Given the description of an element on the screen output the (x, y) to click on. 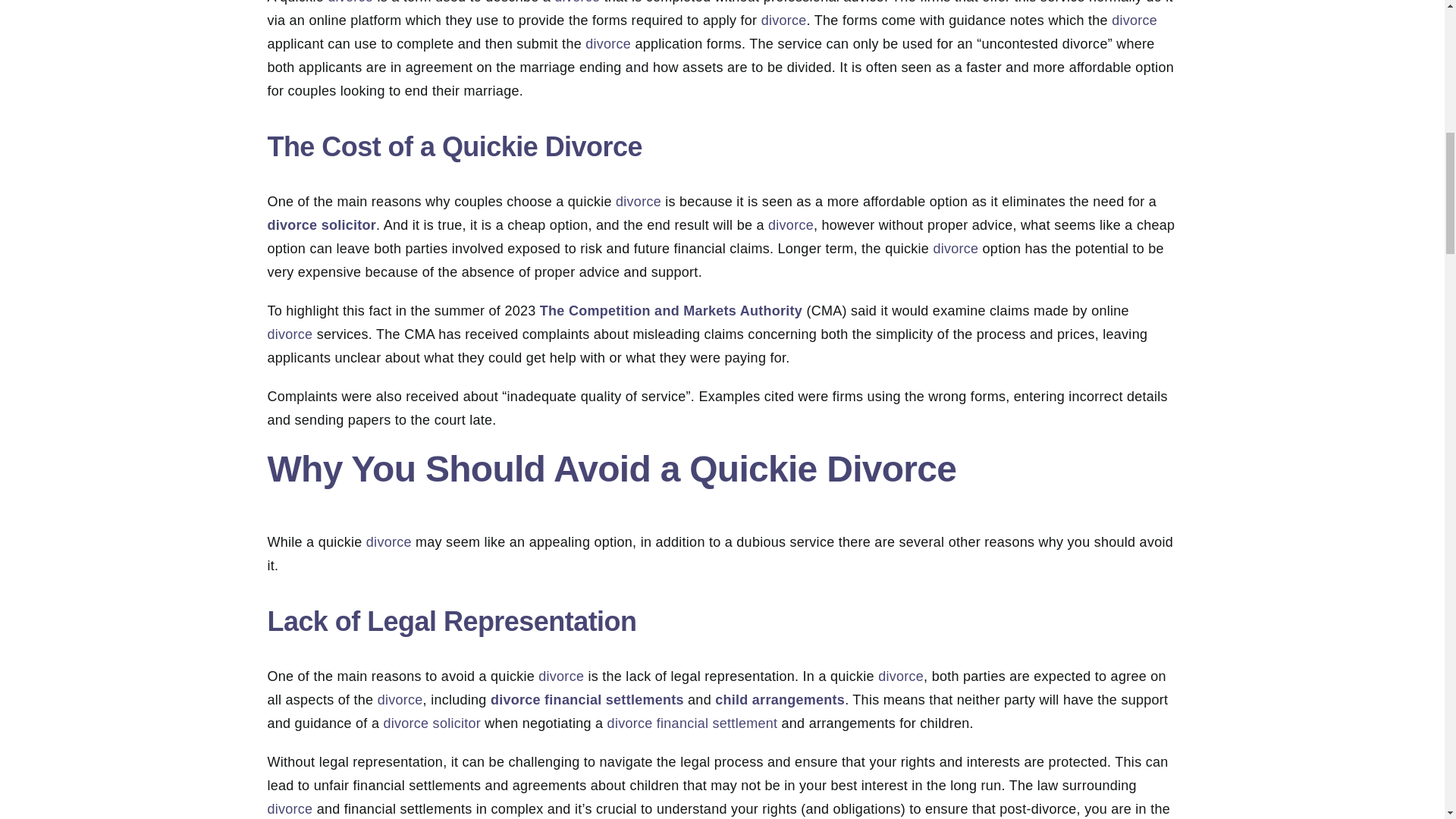
divorce (955, 248)
divorce (289, 334)
divorce solicitor (320, 224)
The Competition and Markets Authority (671, 310)
divorce (349, 2)
divorce (1134, 20)
divorce (638, 201)
divorce (607, 43)
divorce (783, 20)
divorce (576, 2)
